Given the description of an element on the screen output the (x, y) to click on. 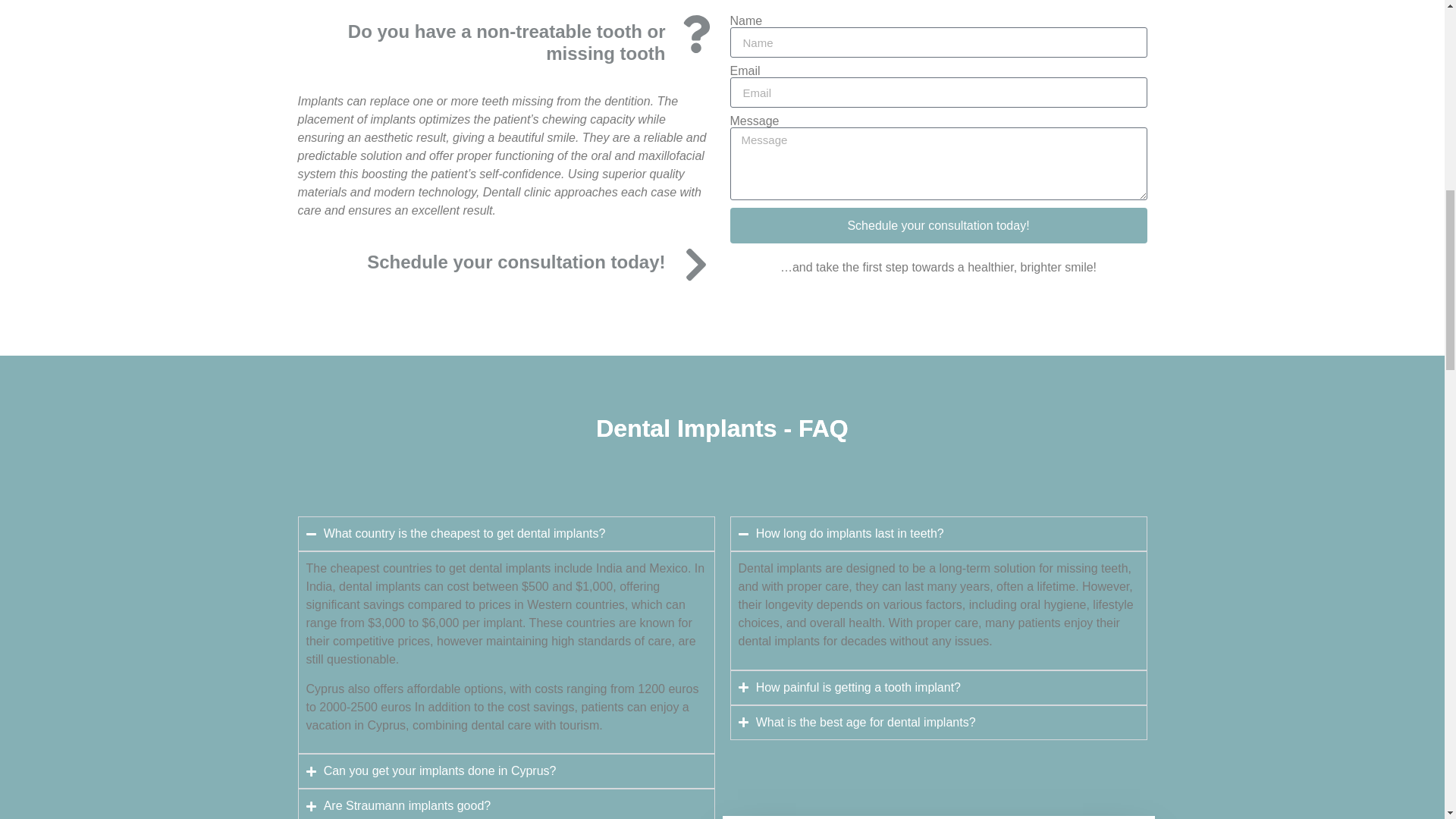
Schedule your consultation today! (938, 225)
